Given the description of an element on the screen output the (x, y) to click on. 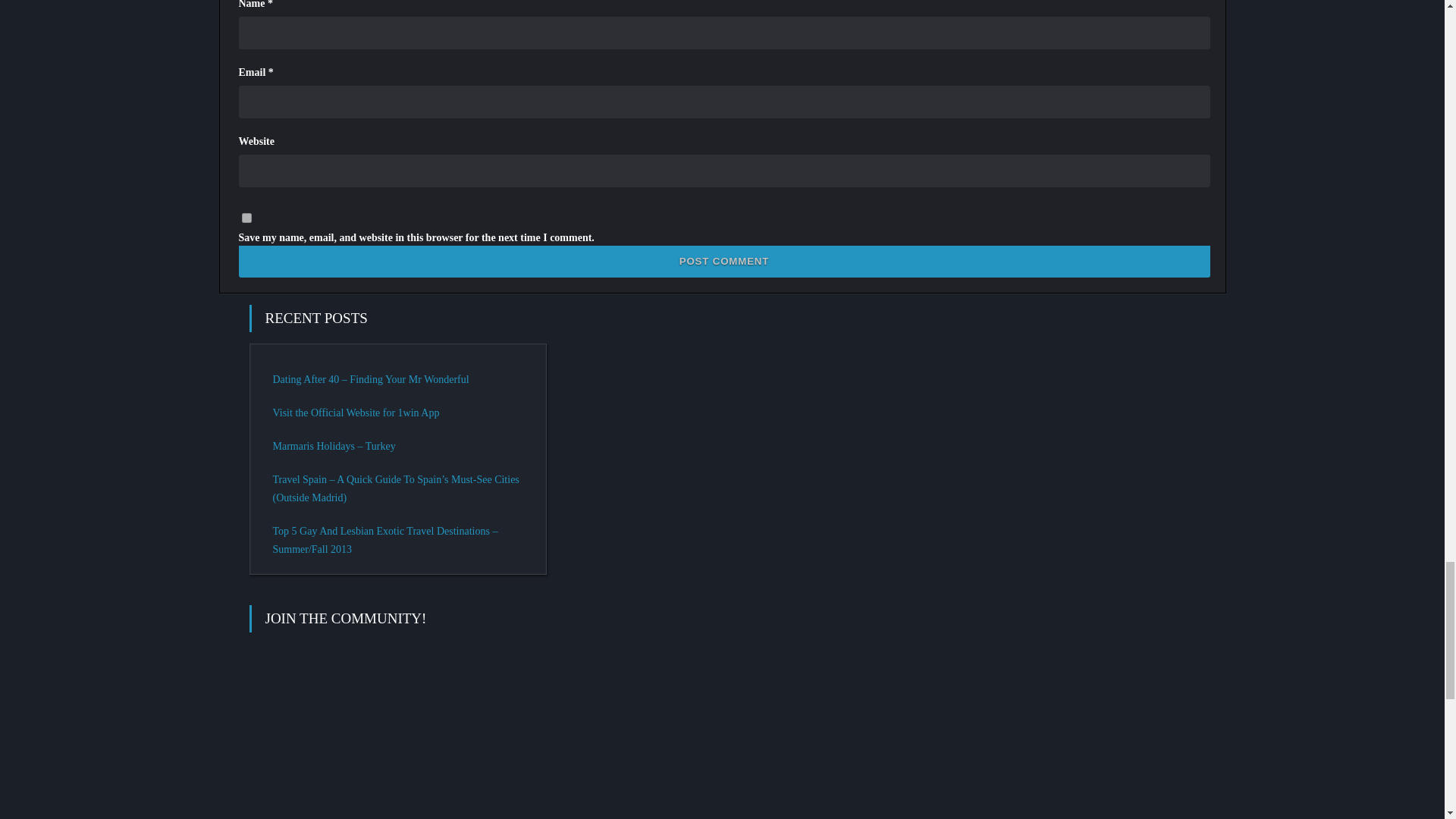
Post Comment (723, 261)
yes (245, 217)
